Given the description of an element on the screen output the (x, y) to click on. 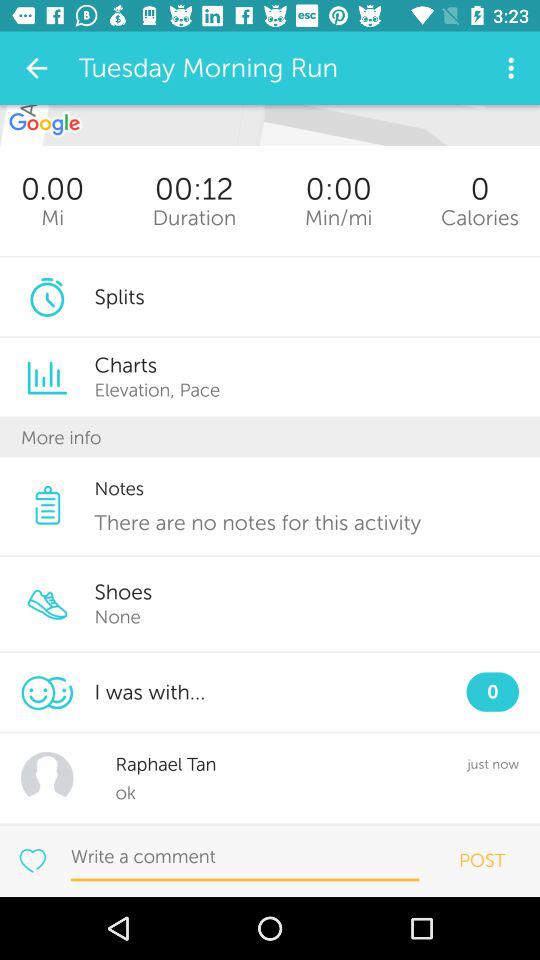
select item next to the 0 (338, 217)
